Given the description of an element on the screen output the (x, y) to click on. 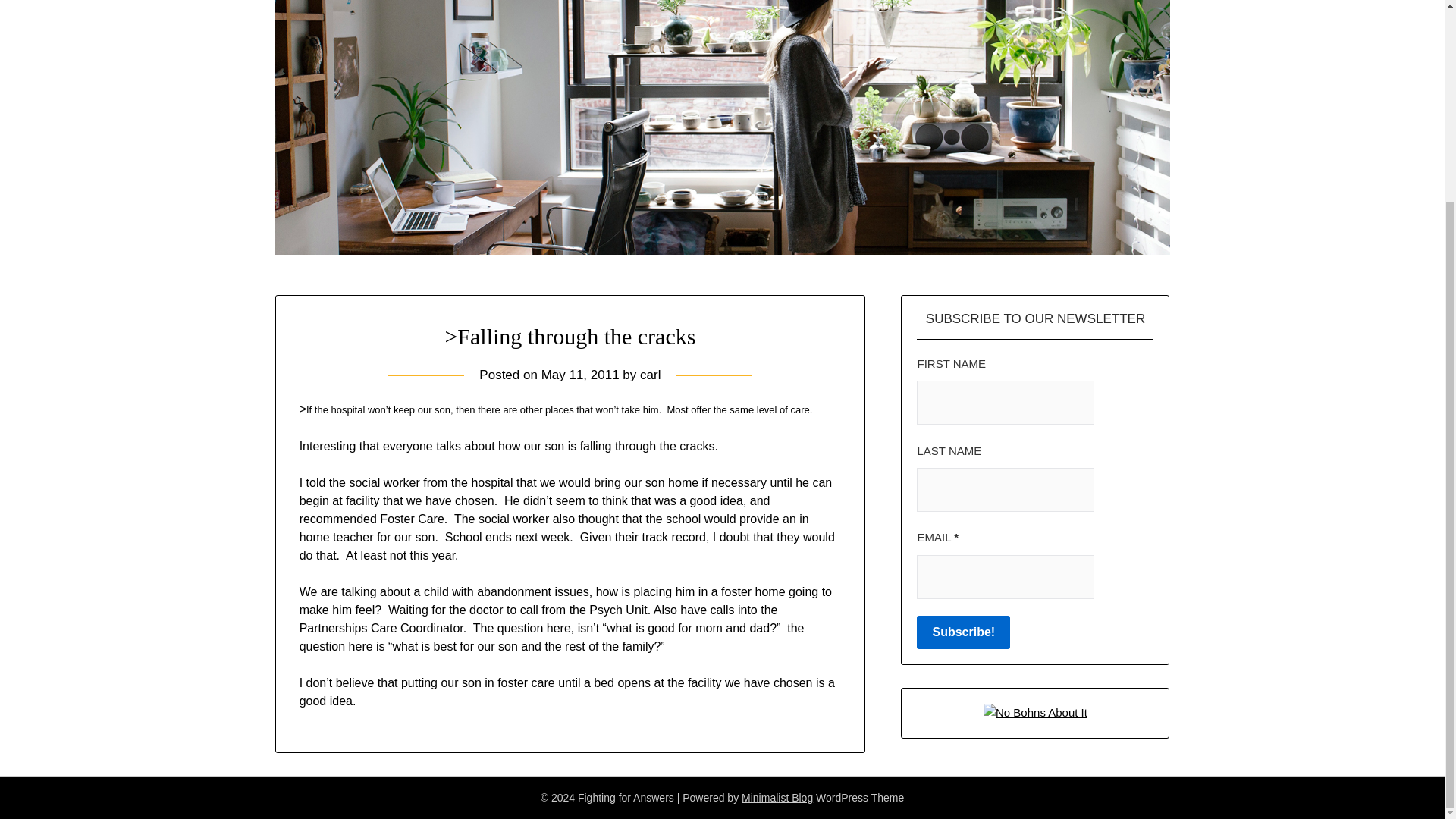
Minimalist Blog (776, 797)
First name (1005, 402)
Email (1005, 576)
Last name (1005, 489)
Subscribe! (963, 632)
No Bohns About It (1035, 712)
Subscribe! (963, 632)
carl (650, 374)
May 11, 2011 (580, 374)
